Given the description of an element on the screen output the (x, y) to click on. 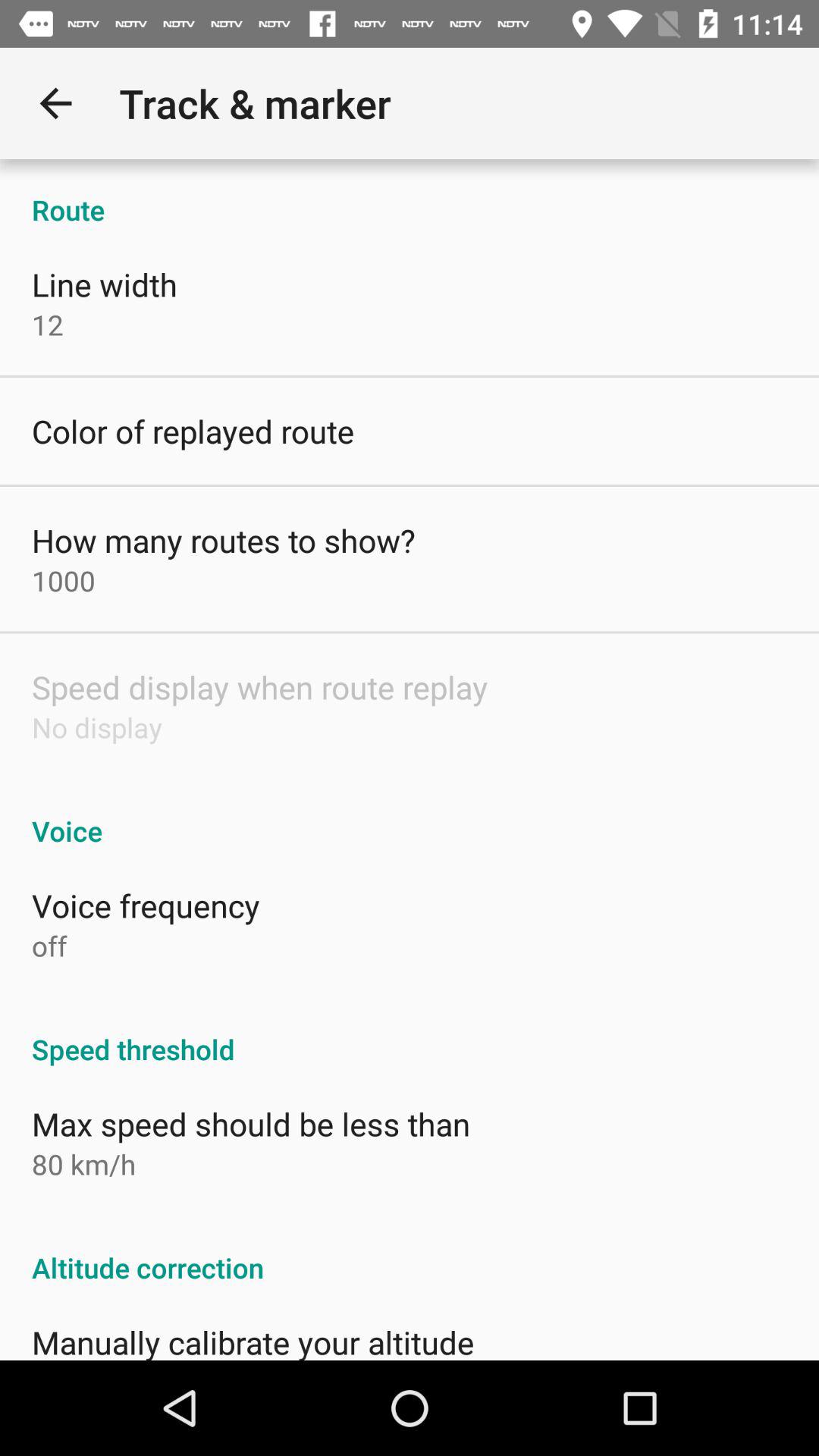
open item above speed display when item (63, 580)
